Given the description of an element on the screen output the (x, y) to click on. 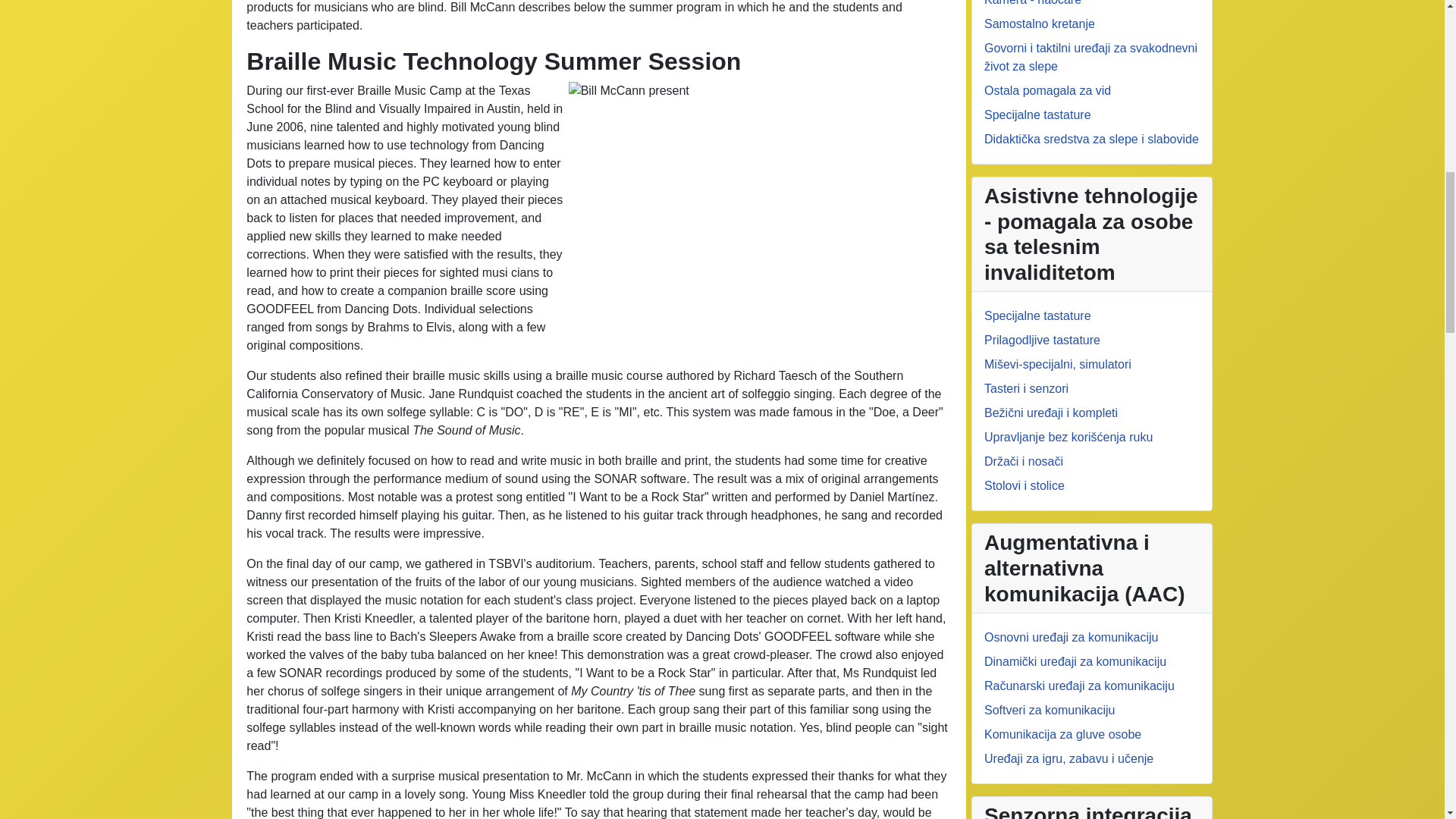
Specijalne tastature (1037, 315)
Specijalne tastature (1037, 114)
Prilagodljive tastature (1042, 339)
Tasteri i senzori (1026, 388)
Samostalno kretanje (1039, 23)
Ostala pomagala za vid (1047, 90)
